Given the description of an element on the screen output the (x, y) to click on. 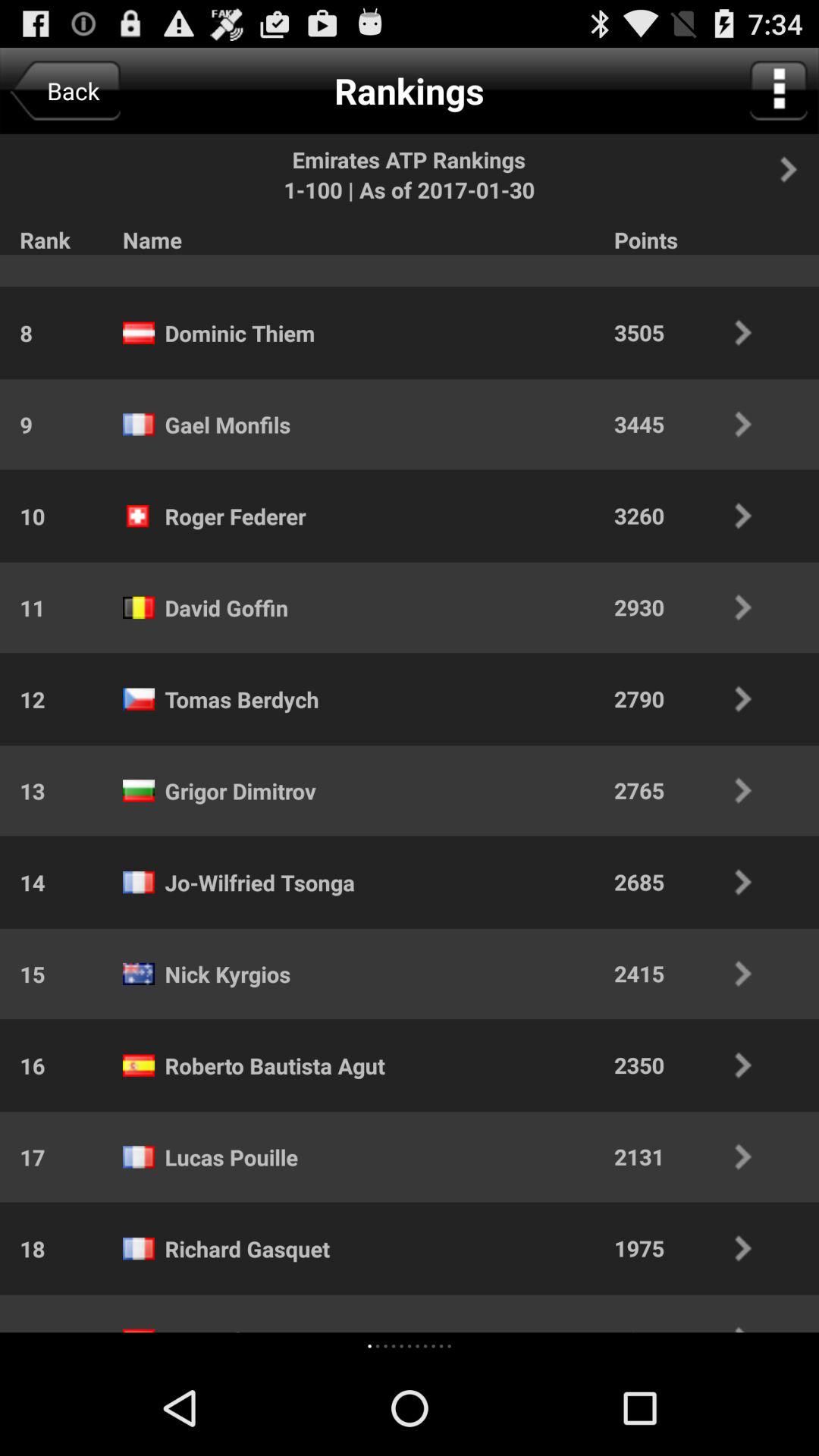
choose item below the name (409, 1345)
